Given the description of an element on the screen output the (x, y) to click on. 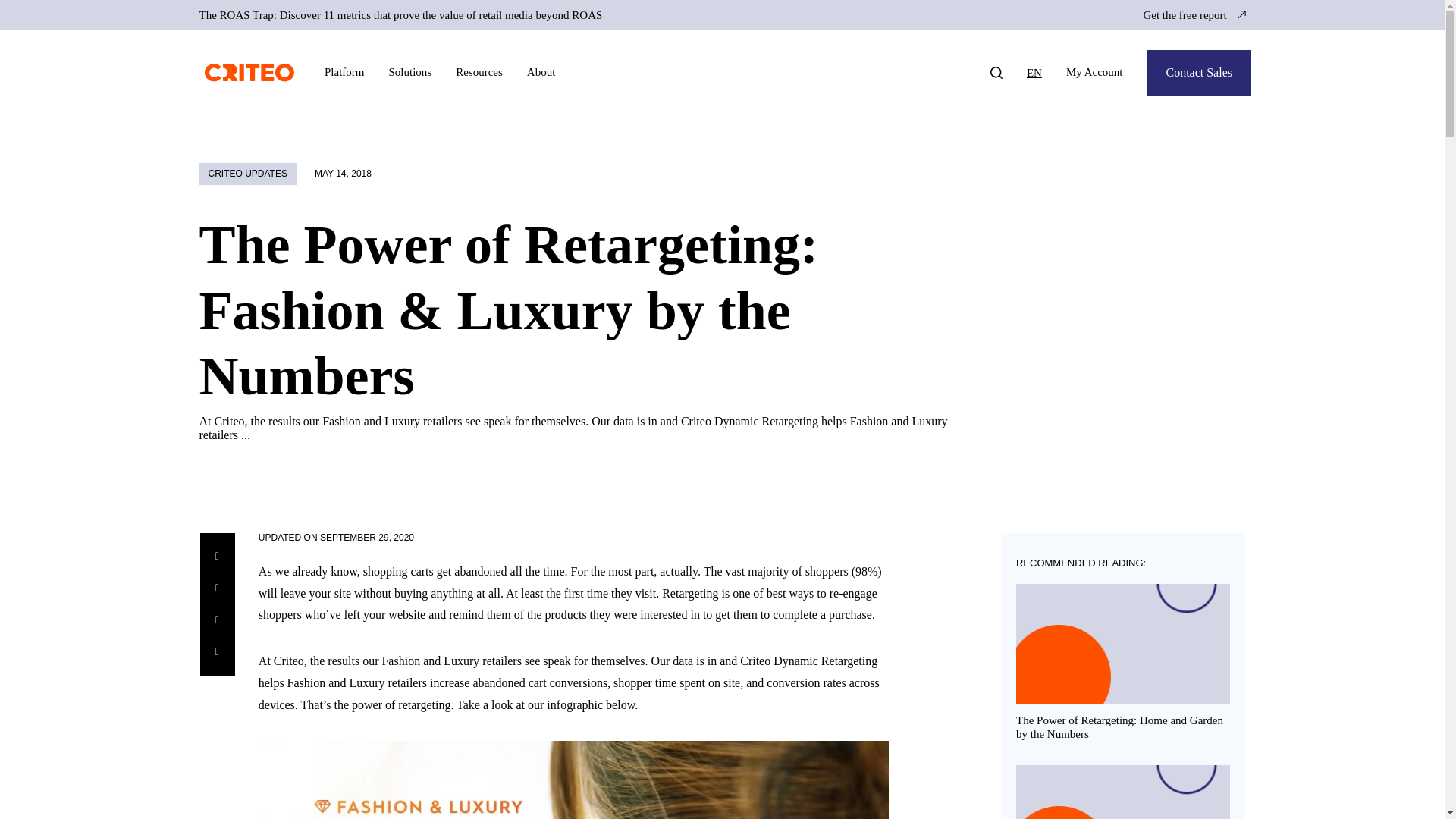
search (990, 71)
Twitter (217, 619)
Facebook (217, 588)
Platform (345, 72)
Solutions (409, 72)
LinkedIn (217, 556)
Get the free report (1193, 15)
Resources (479, 72)
E-mail (217, 651)
